Given the description of an element on the screen output the (x, y) to click on. 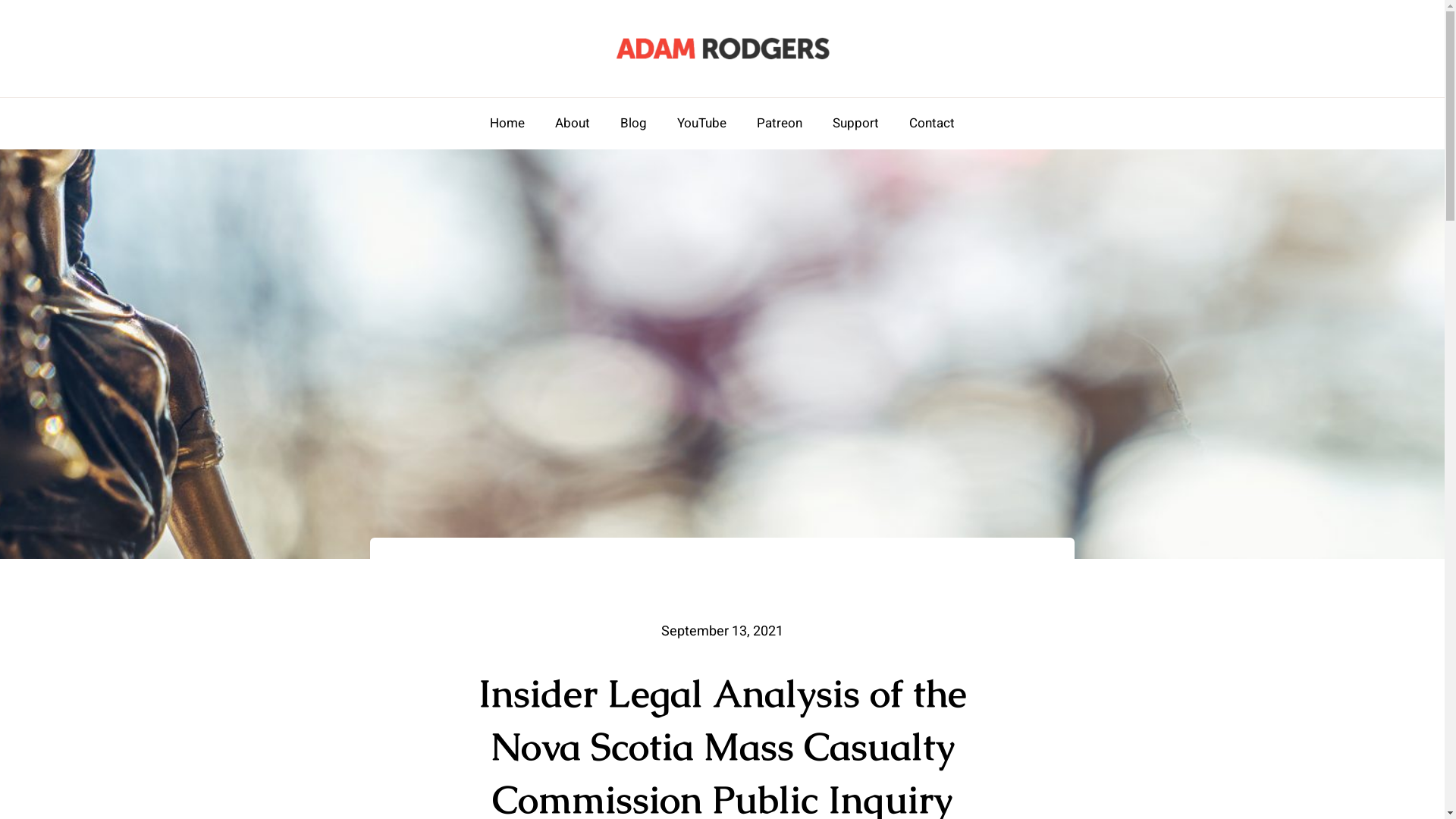
Patreon Element type: text (779, 123)
About Element type: text (572, 123)
YouTube Element type: text (700, 123)
Contact Element type: text (931, 123)
Blog Element type: text (633, 123)
Home Element type: text (506, 123)
Support Element type: text (855, 123)
